Given the description of an element on the screen output the (x, y) to click on. 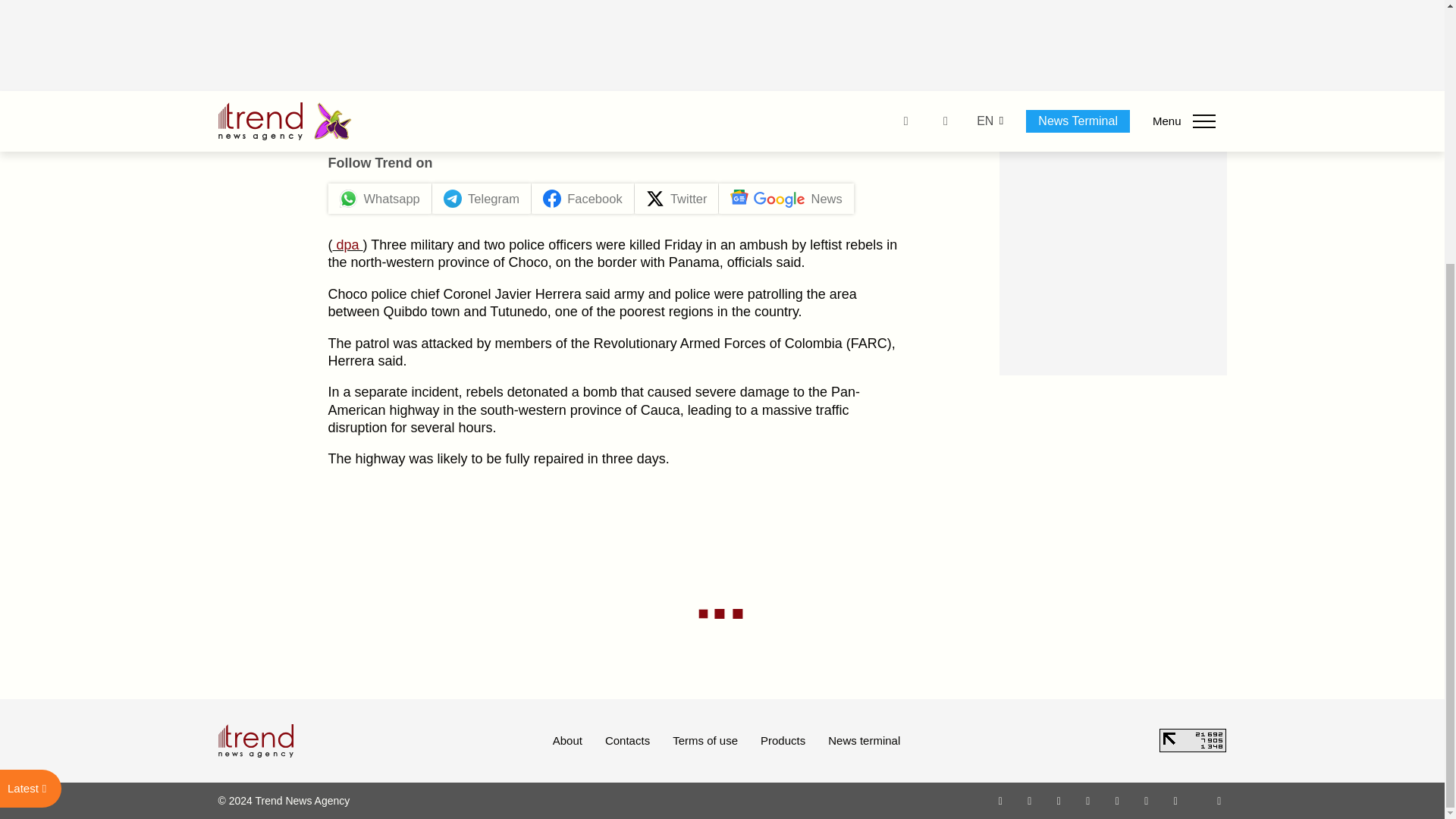
Youtube (1088, 800)
Facebook (1029, 800)
RSS Feed (1219, 800)
Android App (1176, 800)
Twitter (1059, 800)
Telegram (1117, 800)
LinkedIn (1146, 800)
Whatsapp (1000, 800)
